Given the description of an element on the screen output the (x, y) to click on. 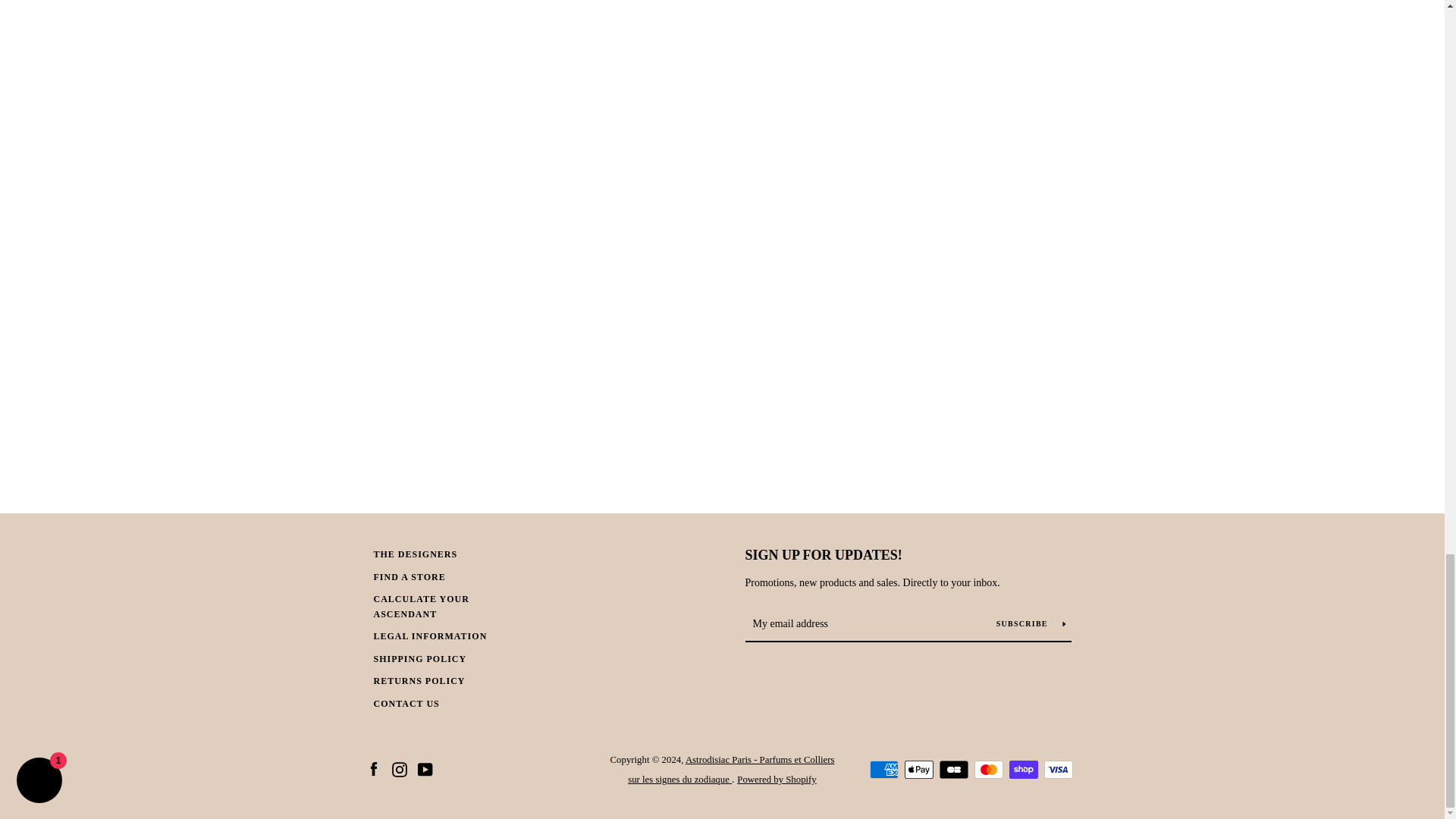
Apple Pay (918, 769)
Cartes Bancaires (953, 769)
American Express (883, 769)
Visa (1057, 769)
Mastercard (988, 769)
Shop Pay (1022, 769)
